Given the description of an element on the screen output the (x, y) to click on. 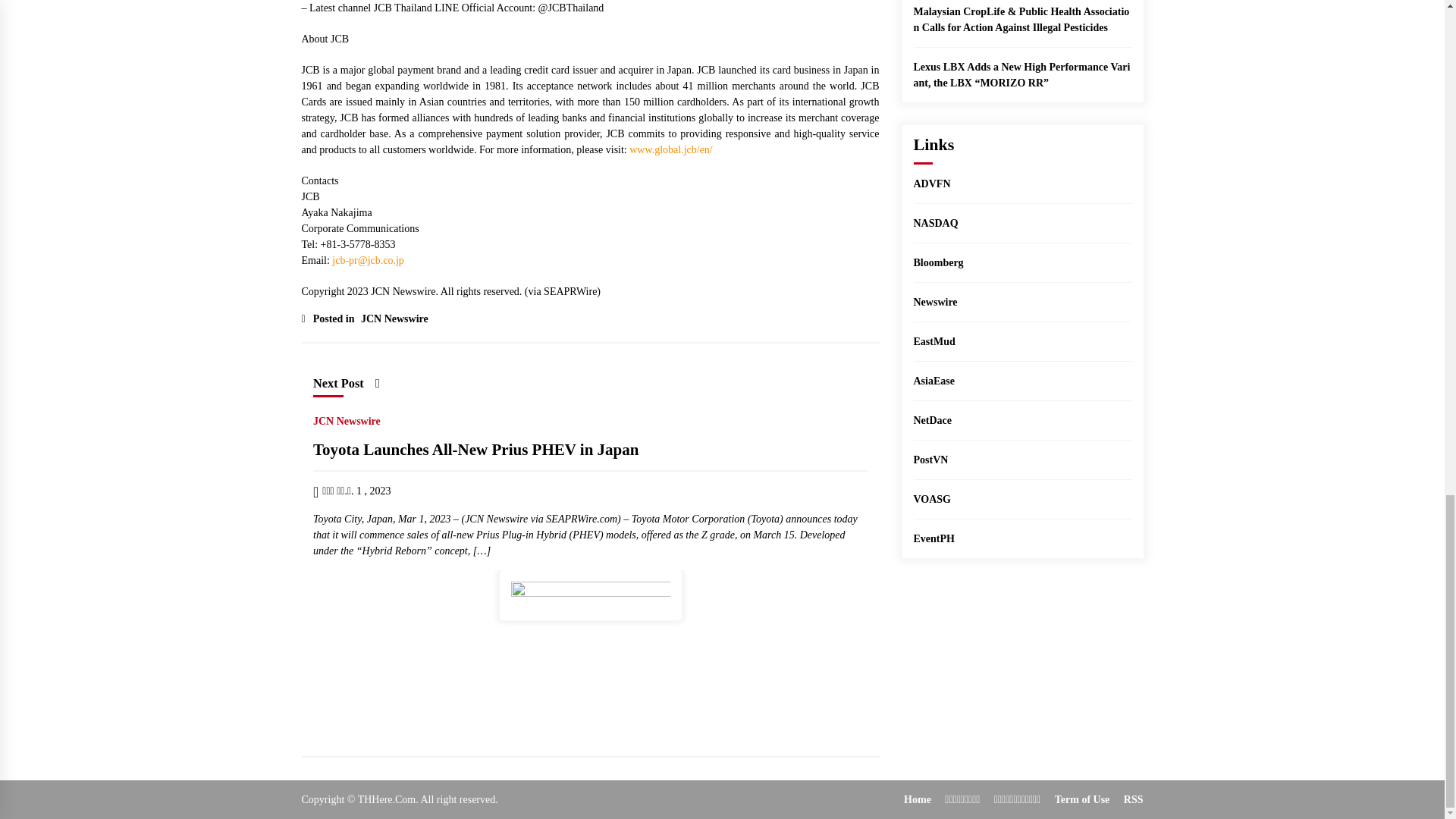
Toyota Launches All-New Prius PHEV in Japan (475, 450)
JCN Newswire (392, 318)
Next Post (345, 382)
JCN Newswire (350, 418)
